Given the description of an element on the screen output the (x, y) to click on. 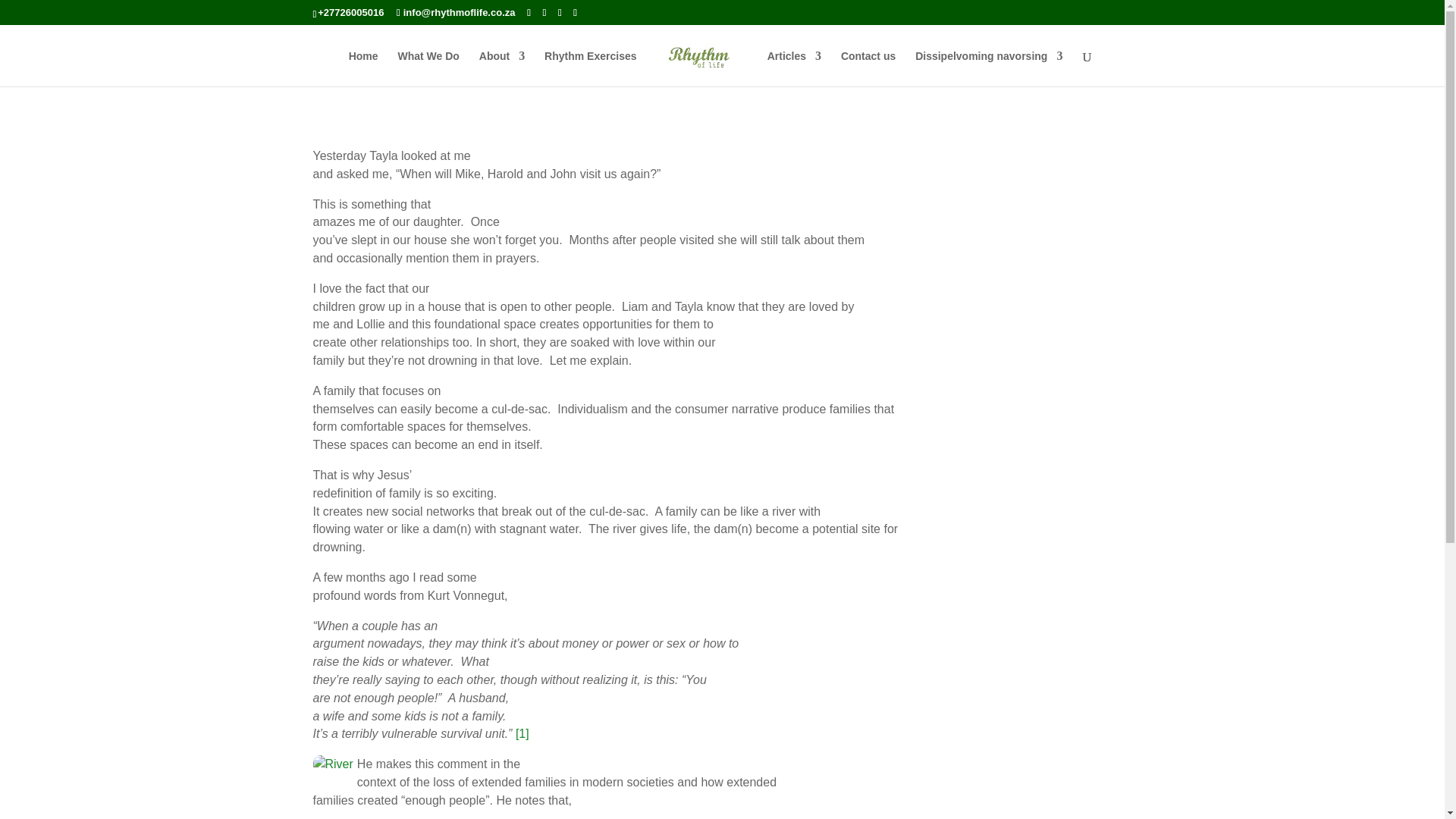
Dissipelvoming navorsing (988, 67)
Articles (794, 67)
What We Do (427, 67)
Contact us (868, 67)
Rhythm Exercises (590, 67)
About (501, 67)
